Given the description of an element on the screen output the (x, y) to click on. 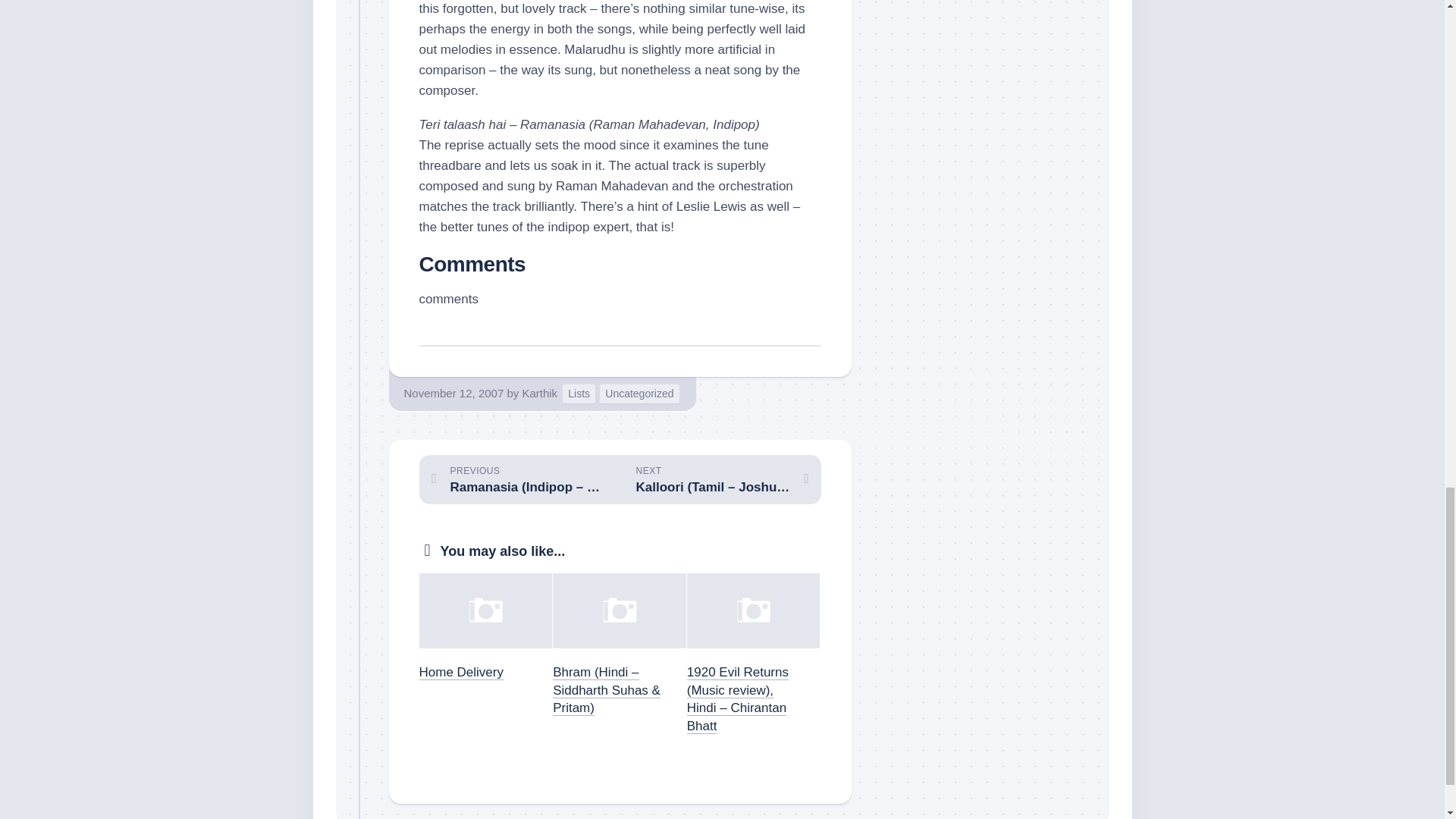
Home Delivery (460, 672)
Uncategorized (638, 393)
Lists (578, 393)
Posts by Karthik (539, 392)
Karthik (539, 392)
